Given the description of an element on the screen output the (x, y) to click on. 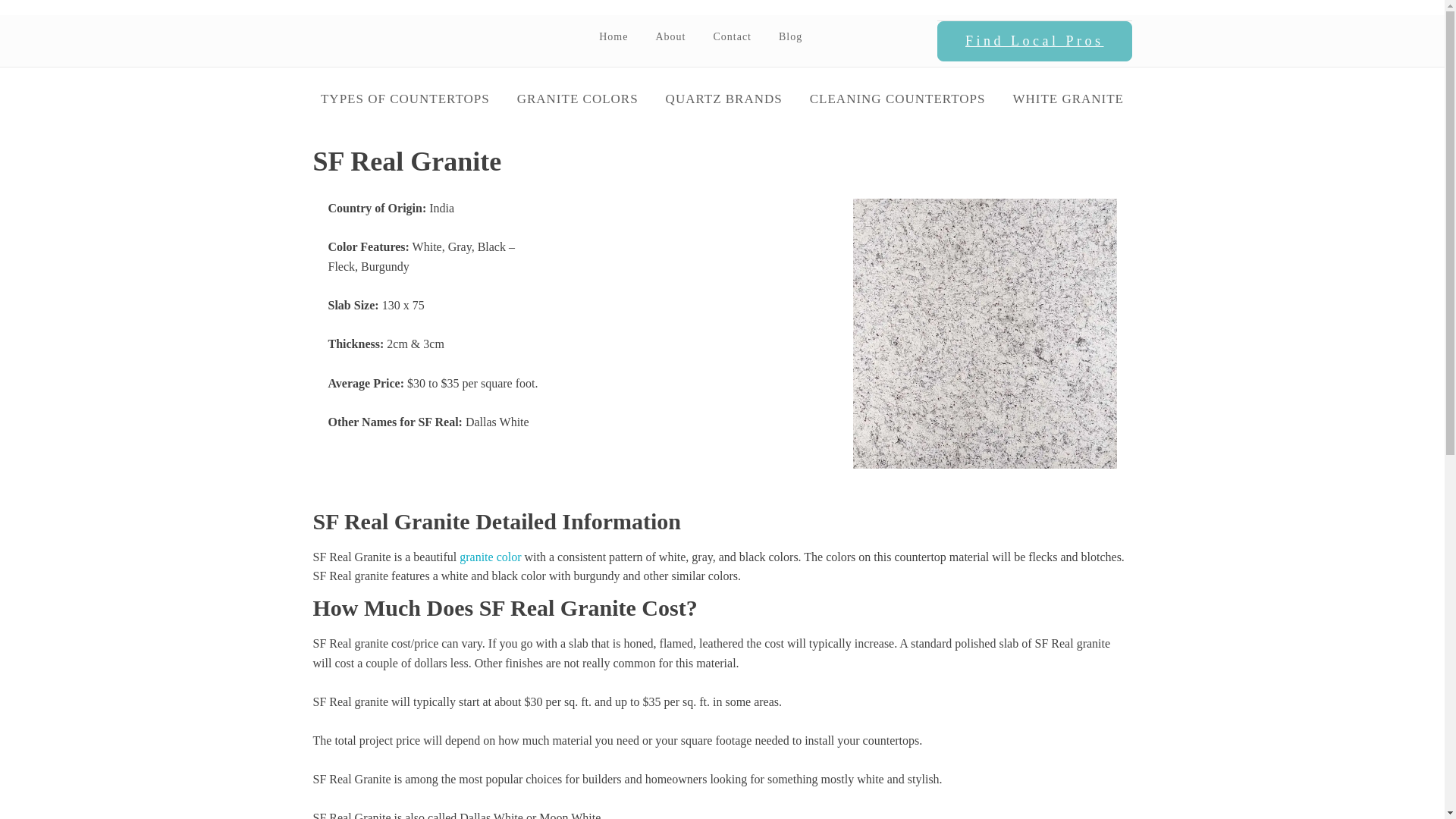
QUARTZ BRANDS (724, 98)
Find Local Pros (1034, 41)
CLEANING COUNTERTOPS (897, 98)
granite color (490, 556)
WHITE GRANITE (1067, 98)
GRANITE COLORS (577, 98)
Home (613, 36)
TYPES OF COUNTERTOPS (405, 98)
About (670, 36)
Blog (790, 36)
